Given the description of an element on the screen output the (x, y) to click on. 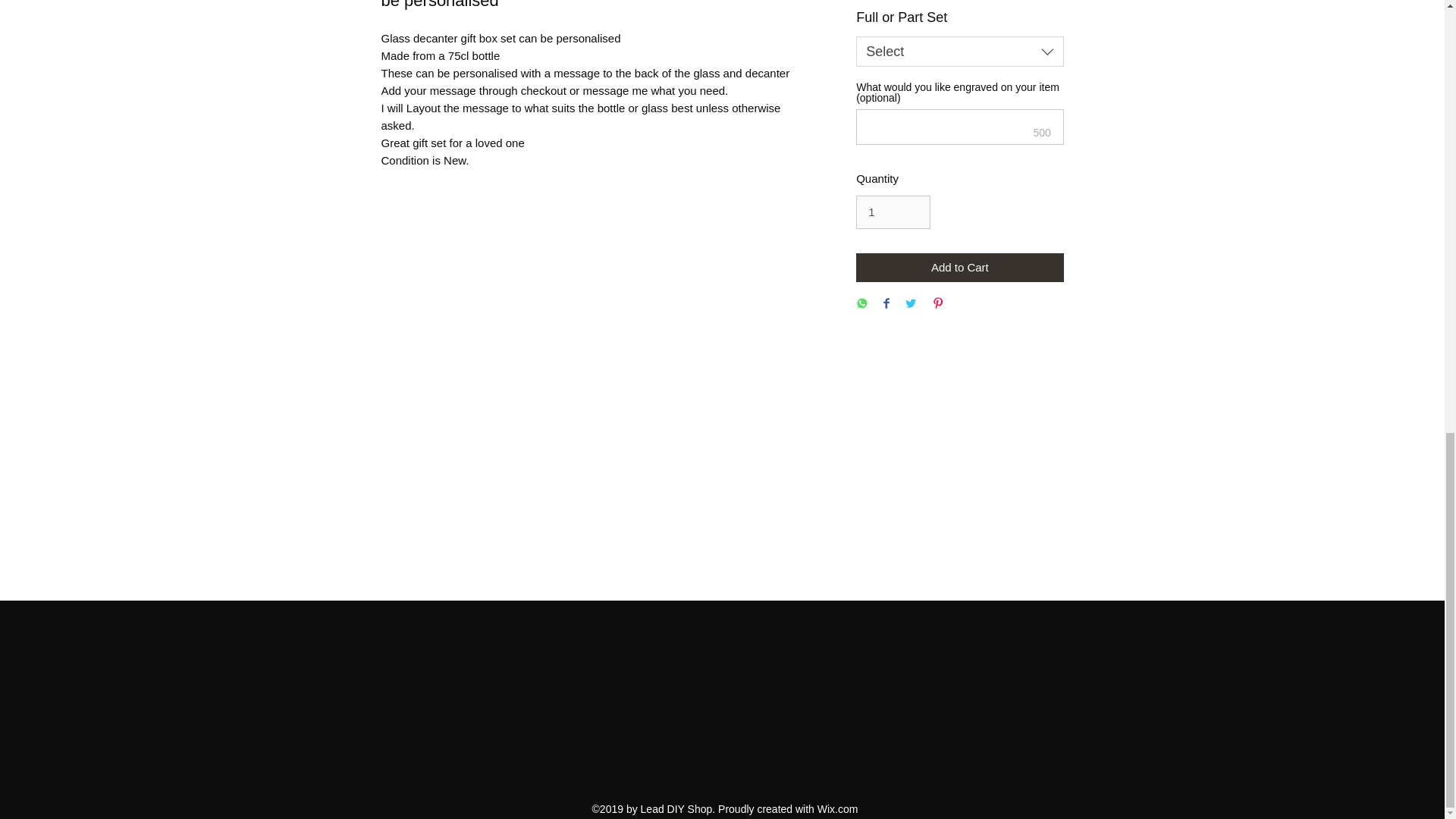
1 (893, 212)
